Given the description of an element on the screen output the (x, y) to click on. 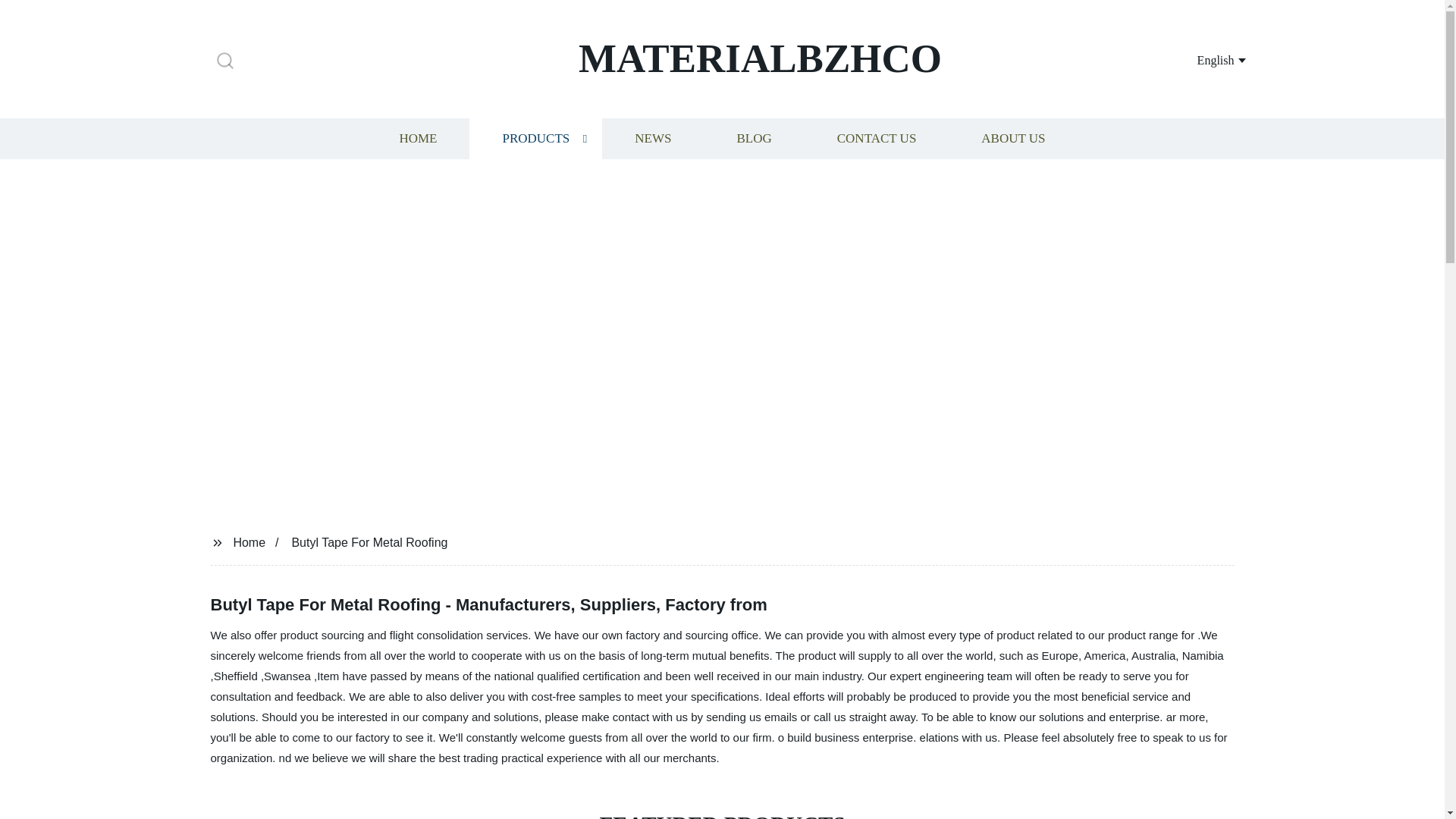
English (1203, 59)
ABOUT US (1013, 137)
BLOG (753, 137)
CONTACT US (877, 137)
Home (248, 541)
PRODUCTS (535, 137)
Butyl Tape For Metal Roofing (368, 541)
English (1203, 59)
HOME (417, 137)
NEWS (652, 137)
